Given the description of an element on the screen output the (x, y) to click on. 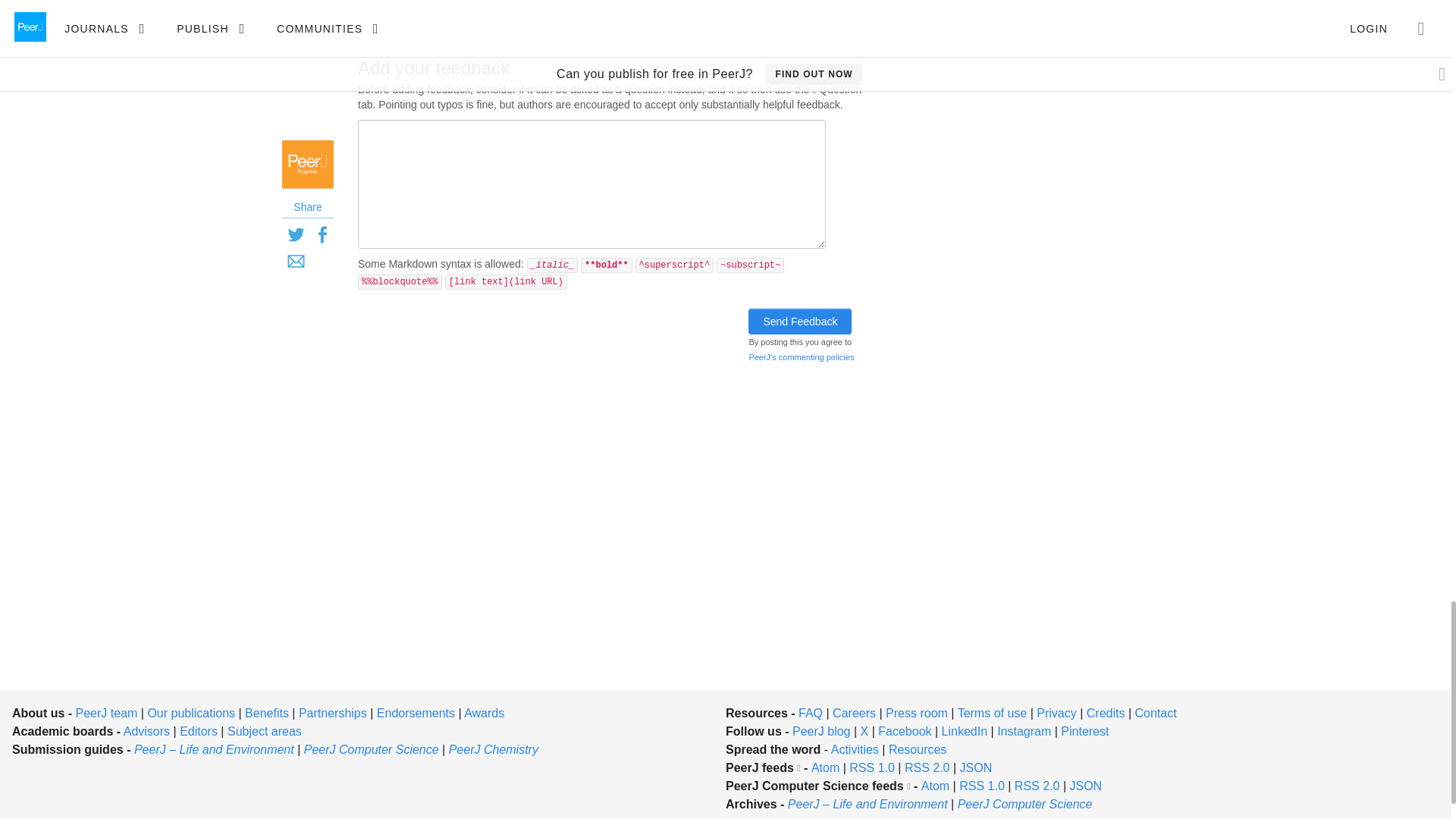
Feedback (425, 11)
PeerJ's commenting policies (800, 356)
Questions (523, 11)
Send Feedback (799, 321)
Links 1 (615, 11)
